Given the description of an element on the screen output the (x, y) to click on. 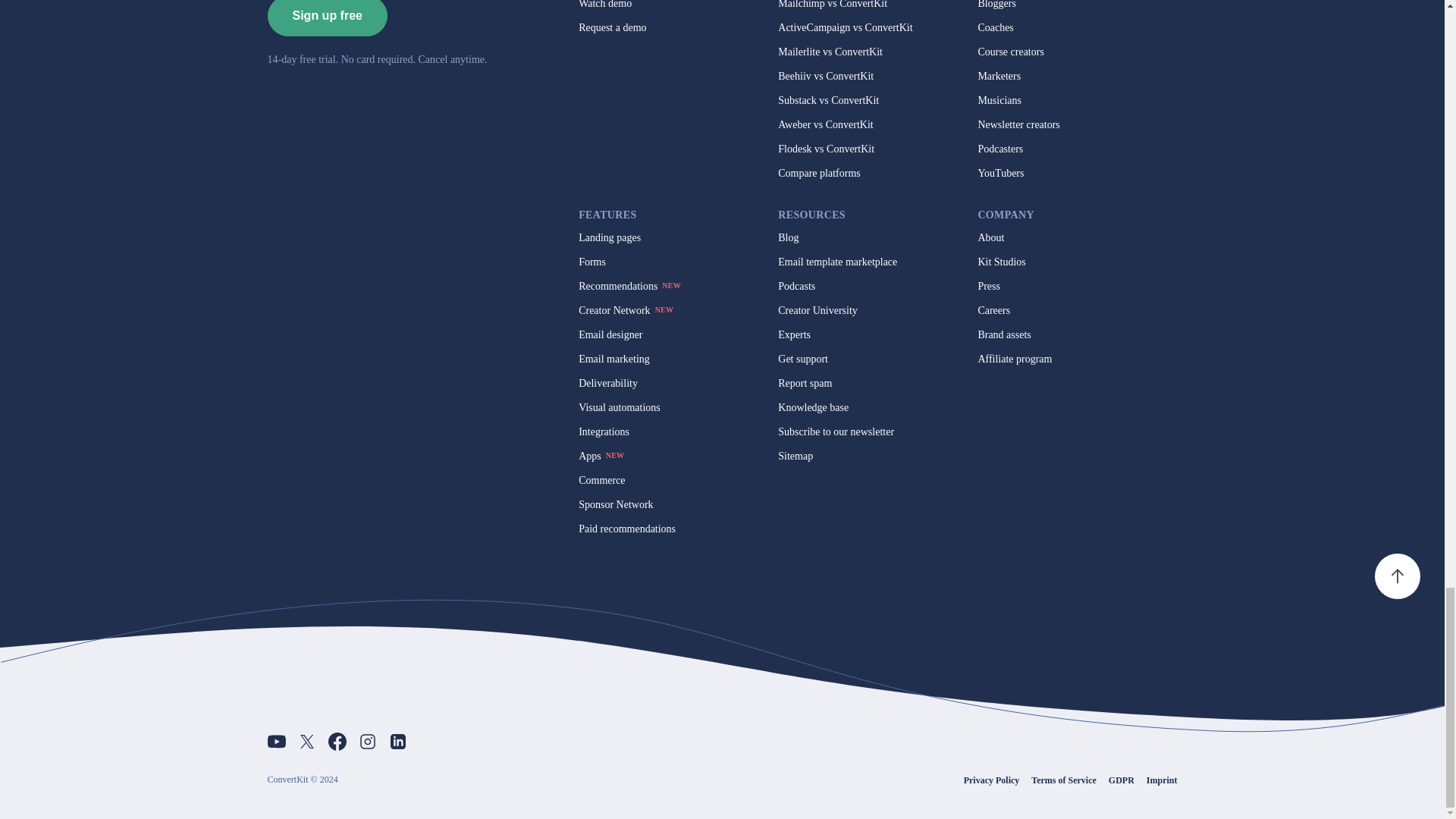
Sign up free (326, 18)
Request a demo (612, 28)
Bloggers (996, 4)
